Given the description of an element on the screen output the (x, y) to click on. 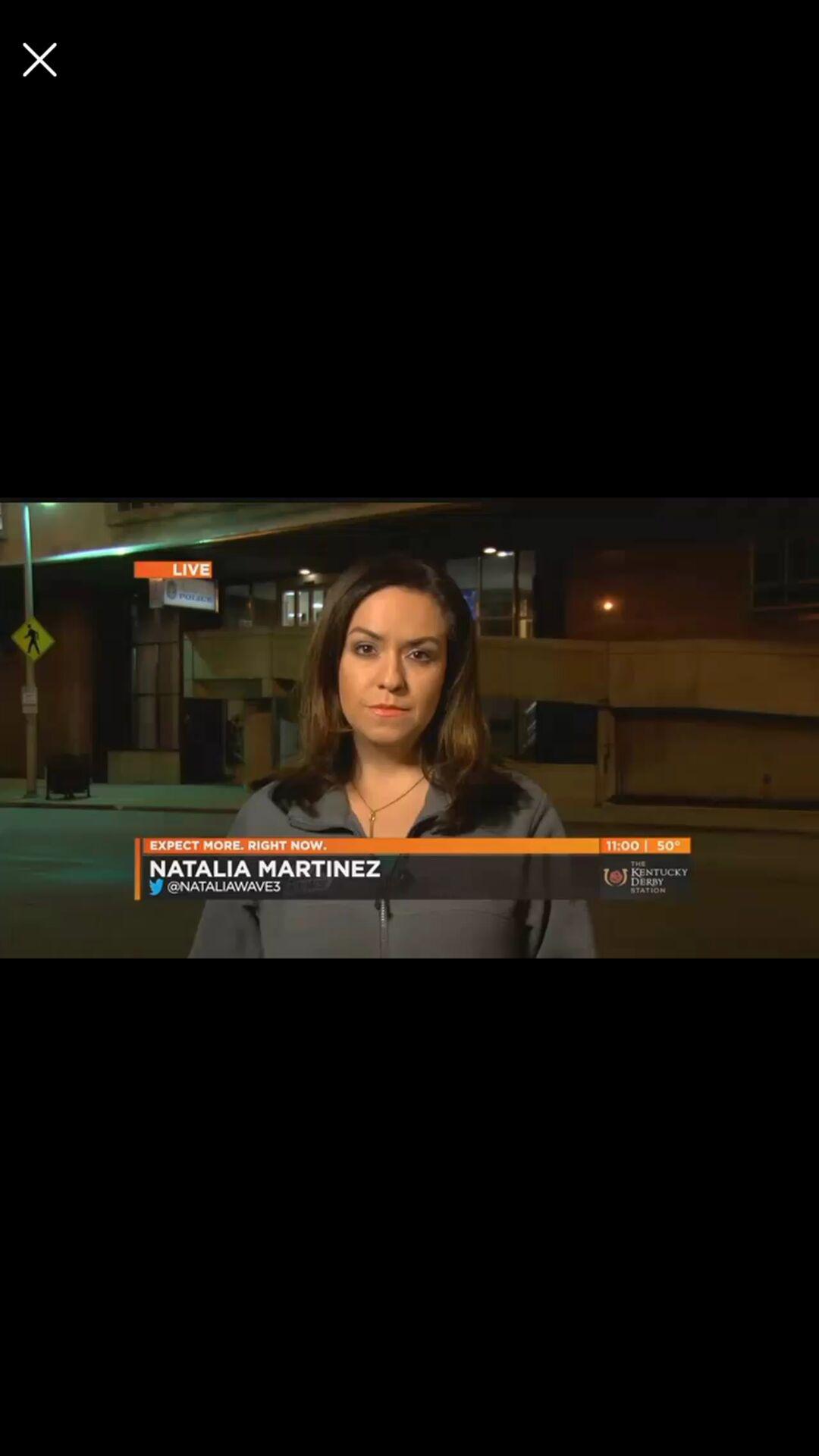
go to cancel (39, 59)
